Given the description of an element on the screen output the (x, y) to click on. 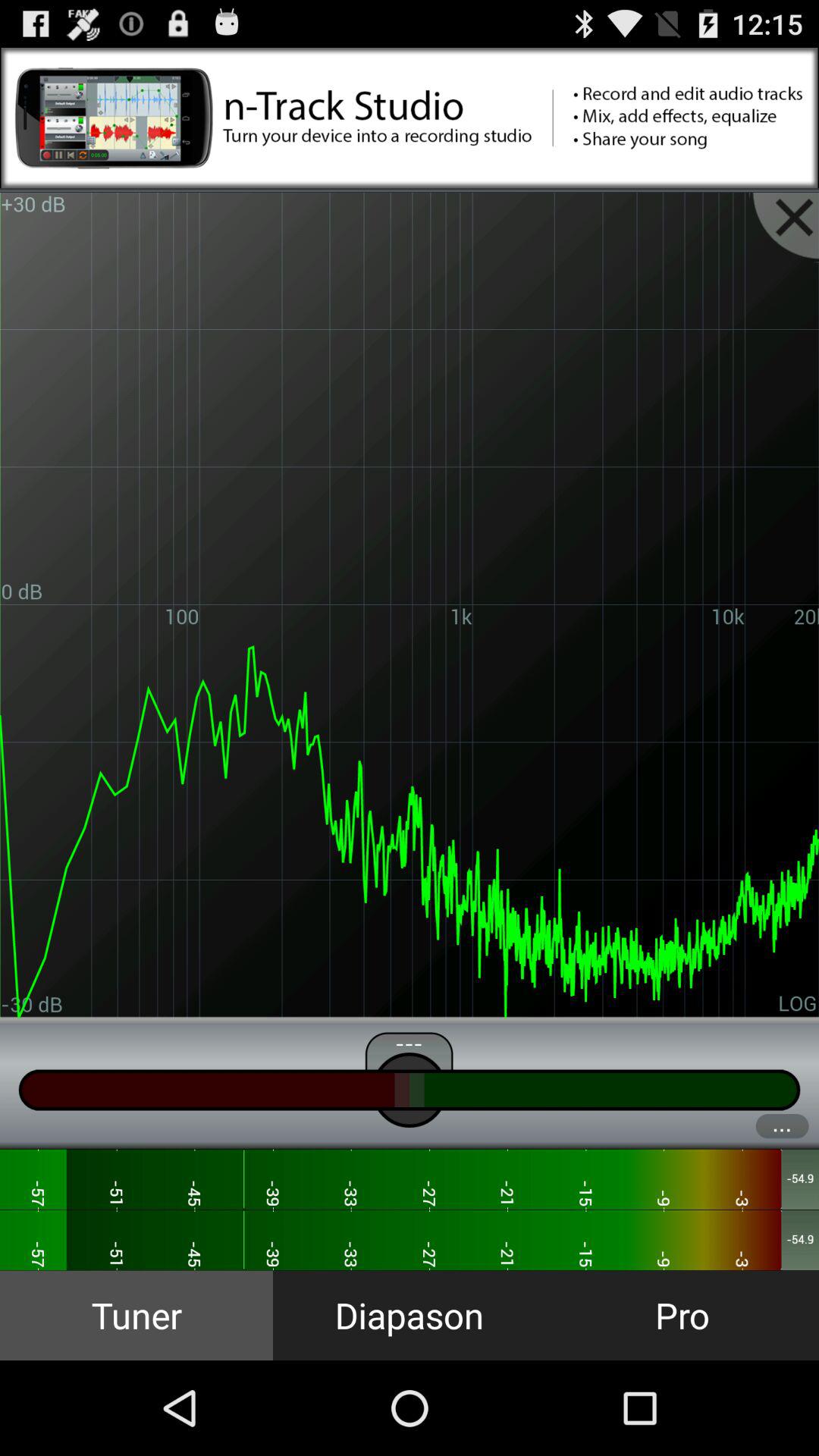
view advertisement (409, 117)
